Given the description of an element on the screen output the (x, y) to click on. 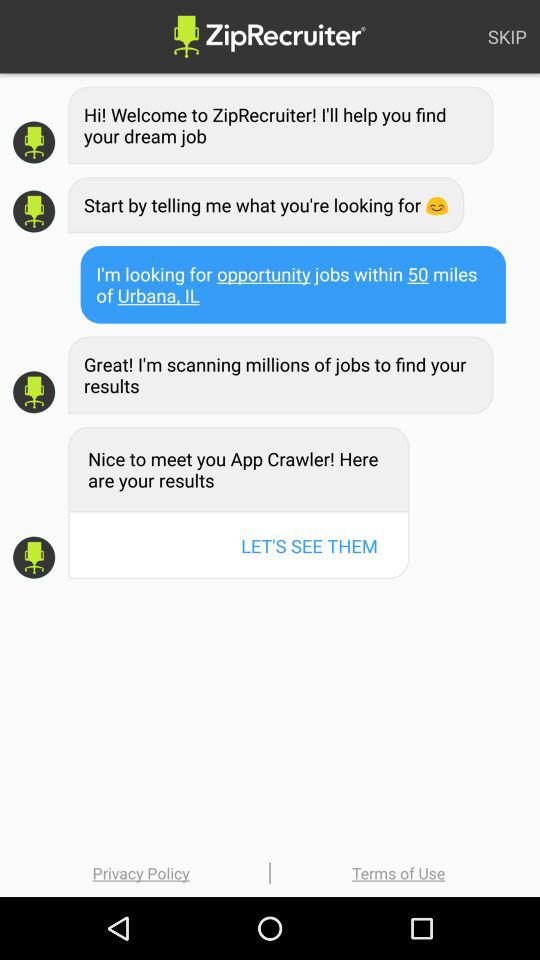
open skip at the top right corner (507, 36)
